Given the description of an element on the screen output the (x, y) to click on. 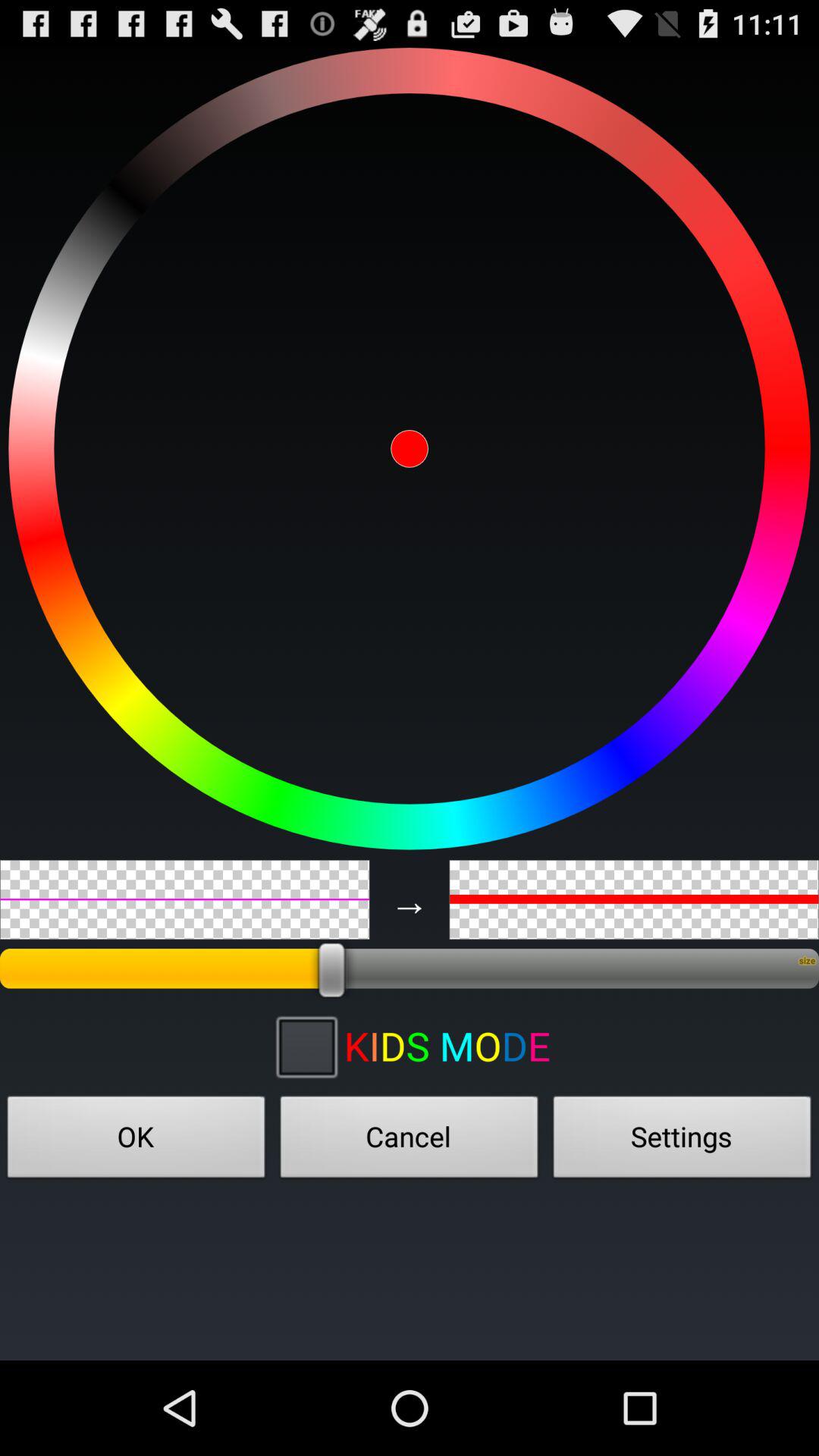
tap item below the kids mode (682, 1141)
